Given the description of an element on the screen output the (x, y) to click on. 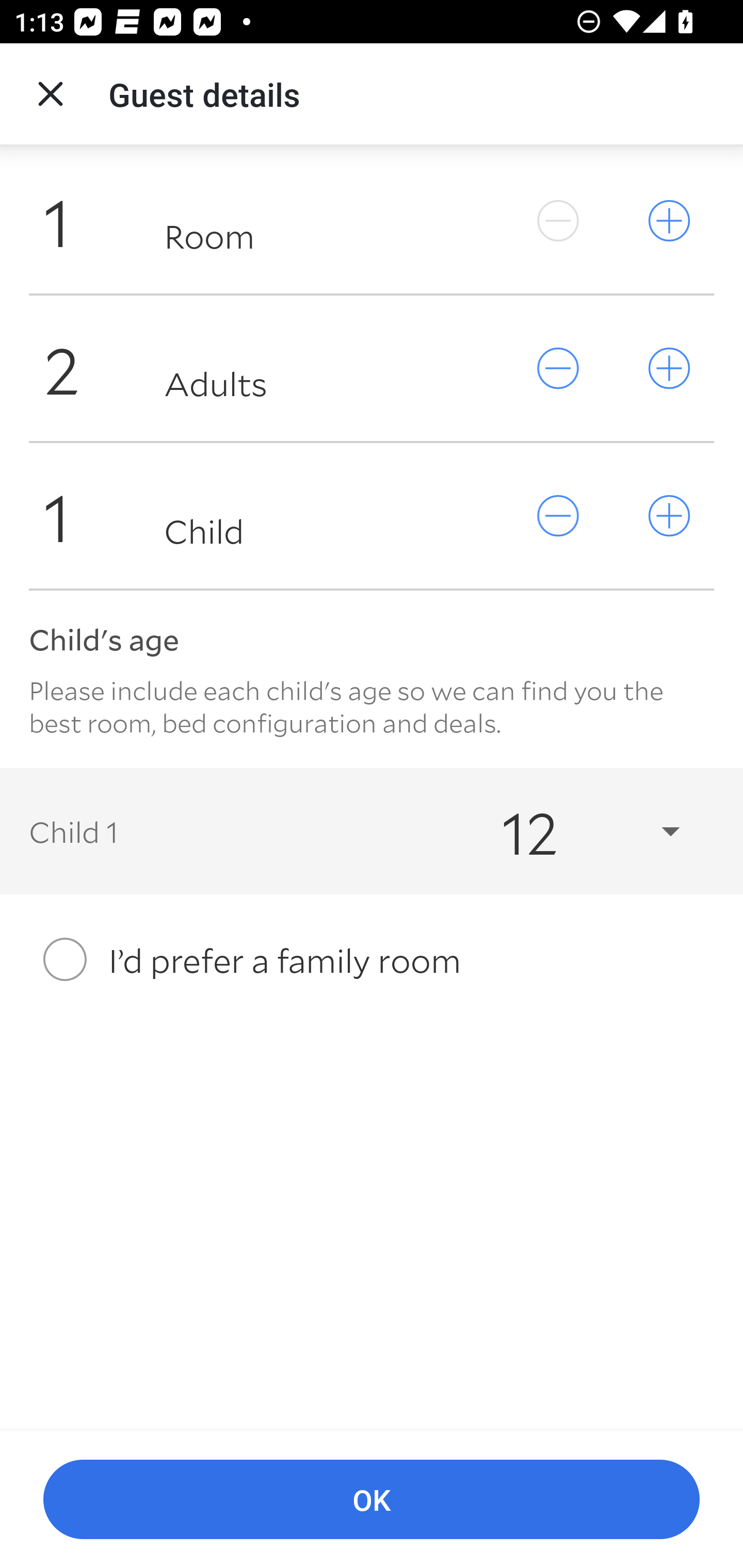
12 (573, 830)
I’d prefer a family room (371, 959)
OK (371, 1499)
